Given the description of an element on the screen output the (x, y) to click on. 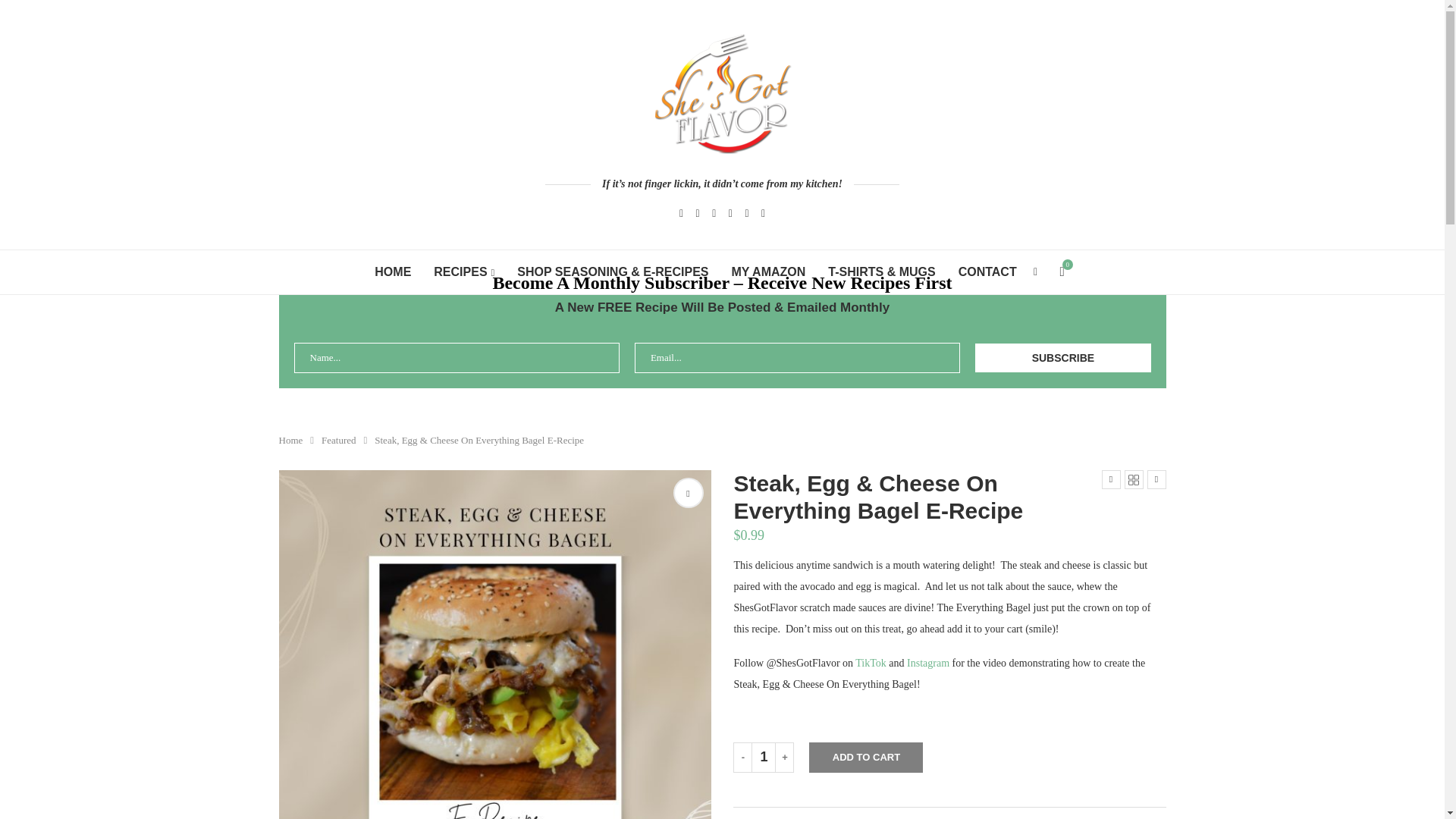
TikTok (871, 663)
CONTACT (987, 272)
Featured (338, 439)
Subscribe (1062, 357)
RECIPES (464, 272)
MY AMAZON (769, 272)
Instagram (928, 663)
Subscribe (1062, 357)
Home (290, 439)
